Given the description of an element on the screen output the (x, y) to click on. 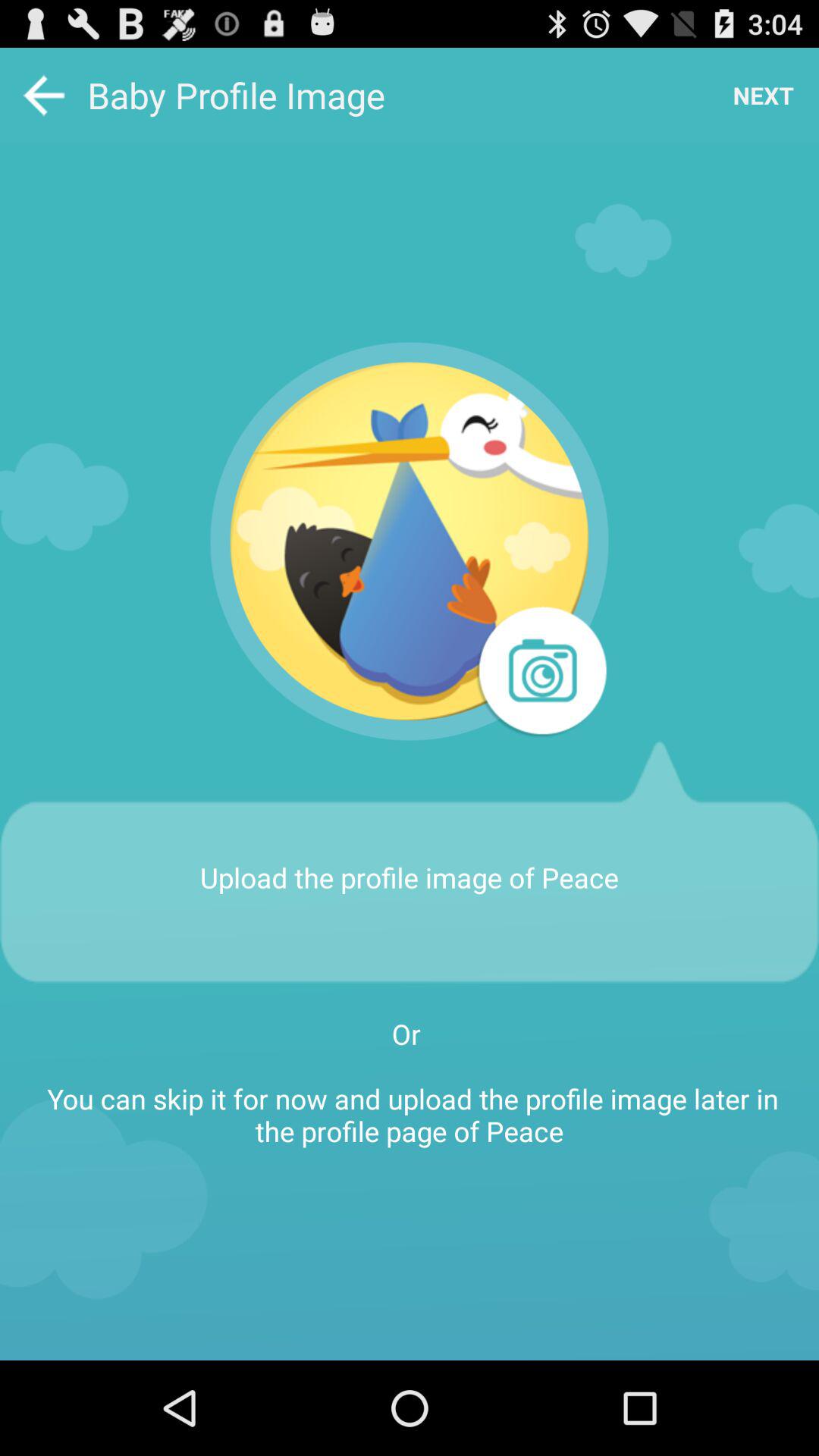
flip to next icon (763, 95)
